Given the description of an element on the screen output the (x, y) to click on. 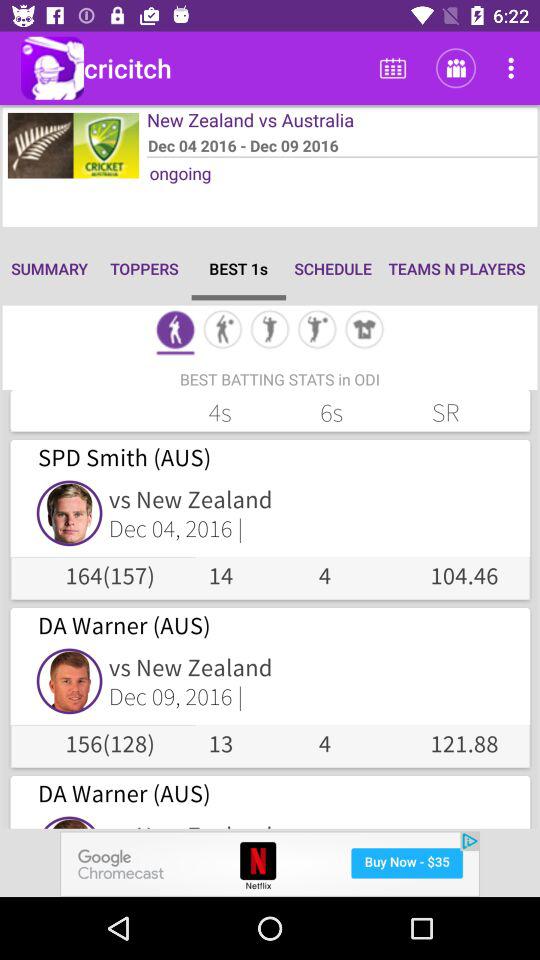
toggle stat (175, 331)
